Given the description of an element on the screen output the (x, y) to click on. 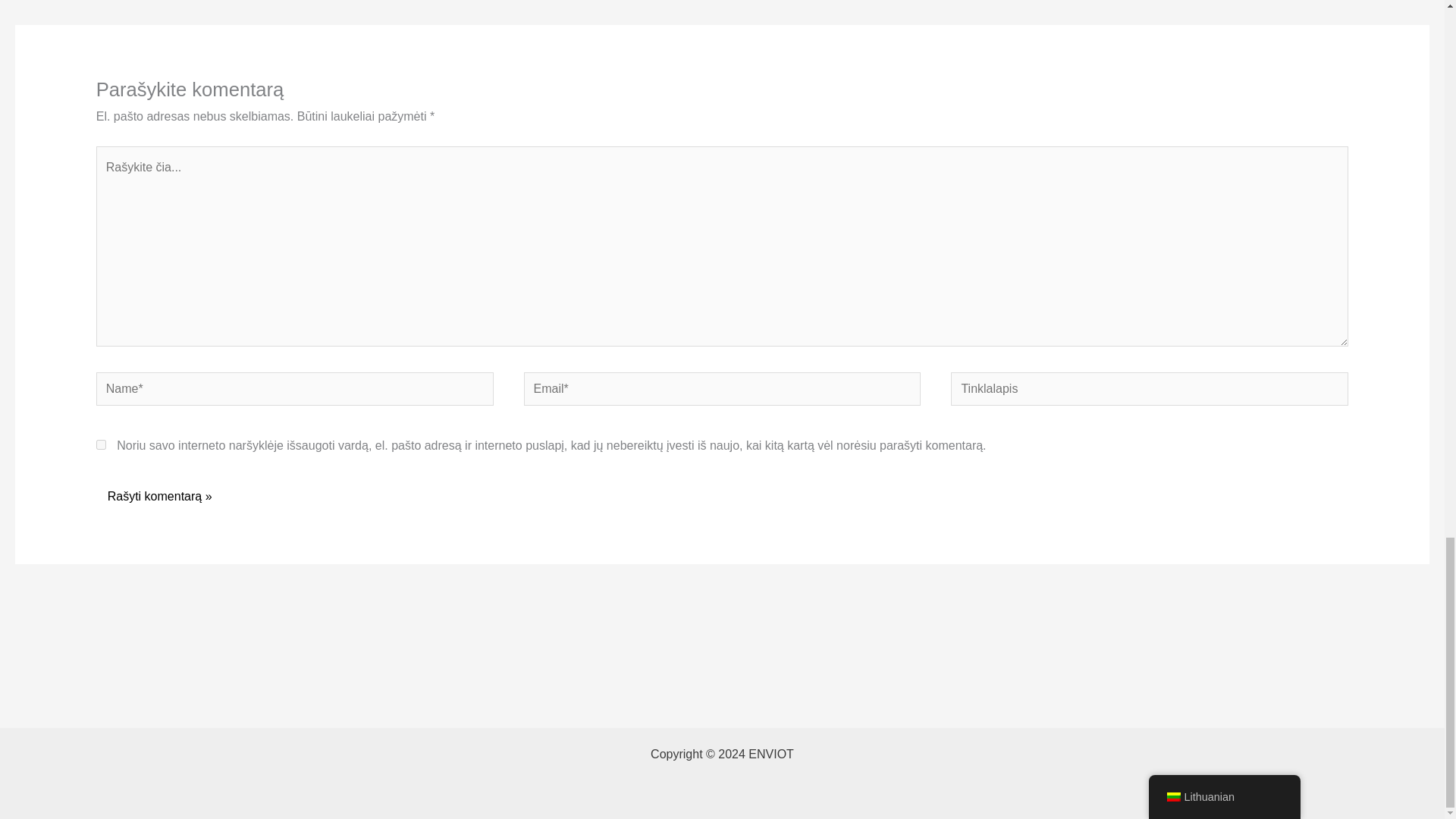
yes (101, 444)
